Given the description of an element on the screen output the (x, y) to click on. 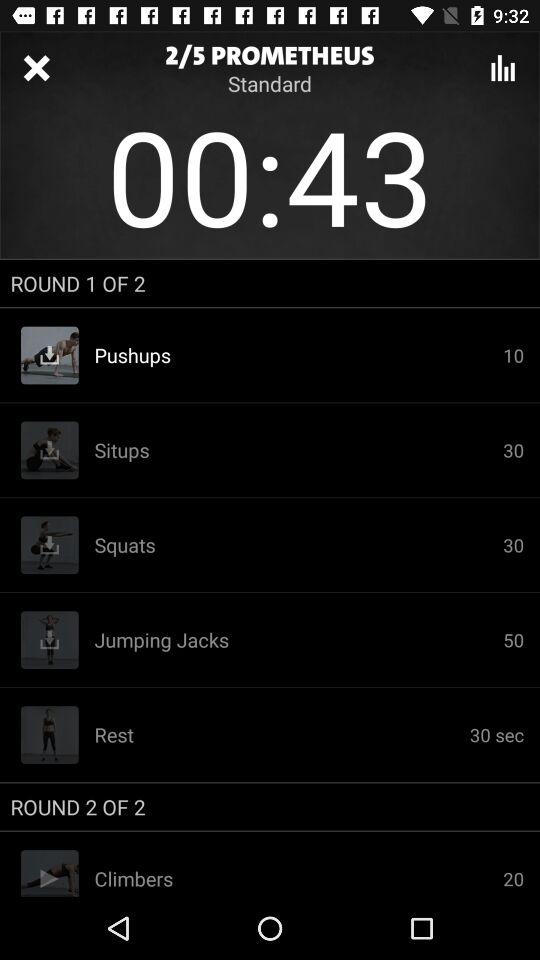
scroll to jumping jacks icon (298, 639)
